Given the description of an element on the screen output the (x, y) to click on. 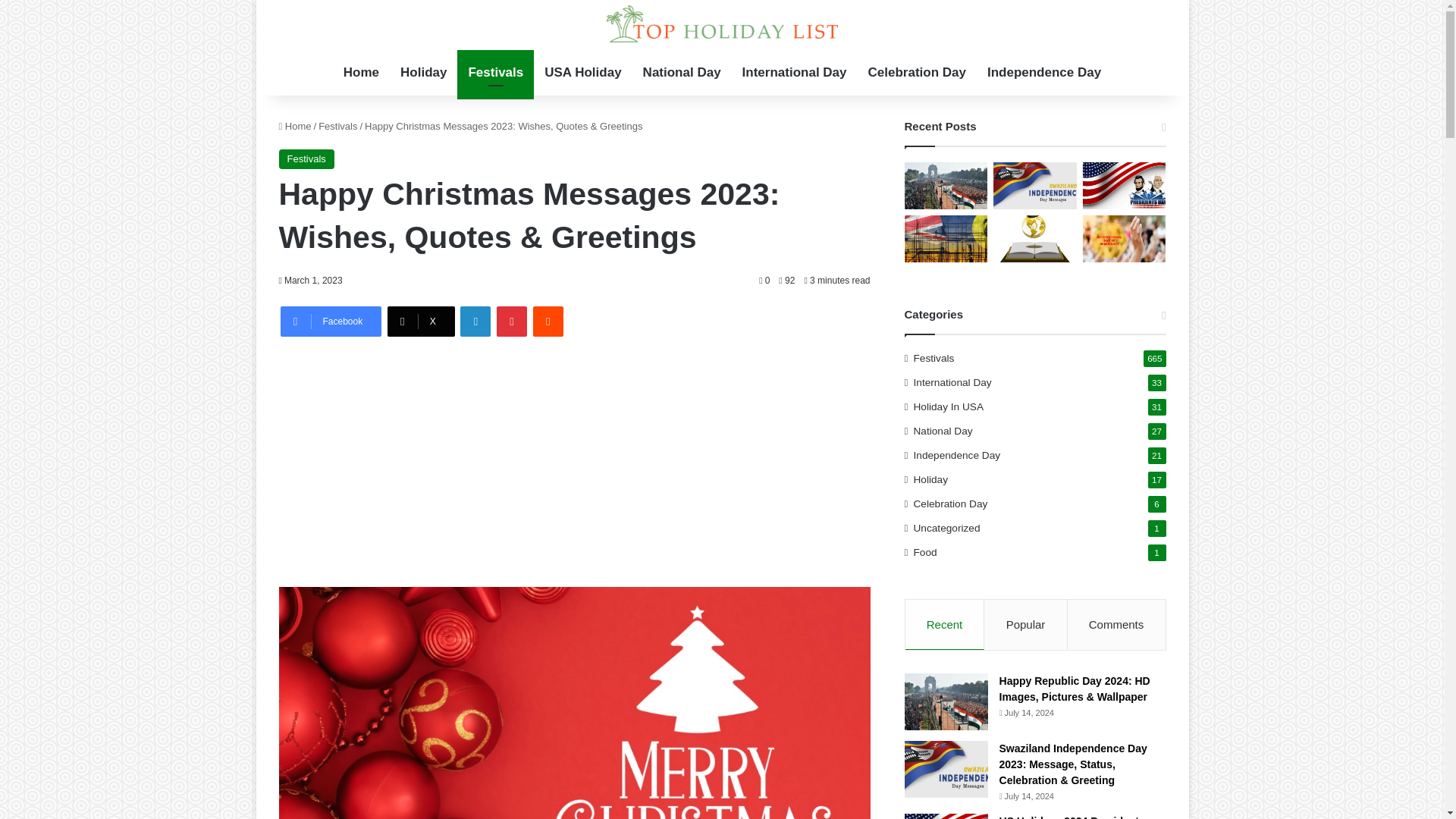
National Day (681, 72)
Top Holiday List (722, 23)
Reddit (547, 321)
Pinterest (511, 321)
Home (295, 125)
Advertisement (574, 458)
USA Holiday (582, 72)
Reddit (547, 321)
Home (361, 72)
Facebook (331, 321)
Independence Day (1044, 72)
X (420, 321)
Festivals (495, 72)
LinkedIn (475, 321)
LinkedIn (475, 321)
